Given the description of an element on the screen output the (x, y) to click on. 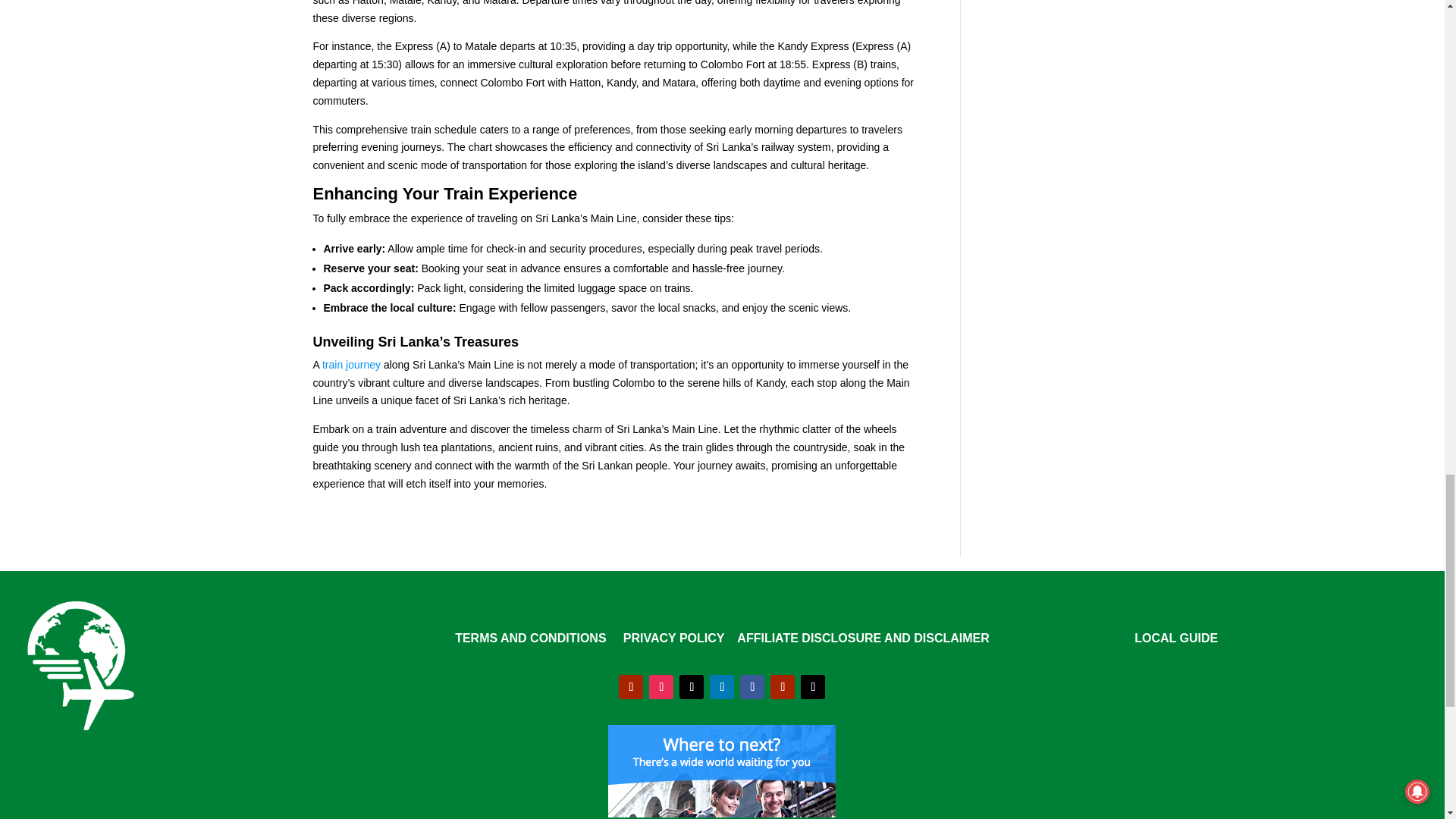
Follow on Quora (782, 686)
Follow on Facebook (751, 686)
Follow on LinkedIn (721, 686)
Follow on Youtube (630, 686)
Follow on X (812, 686)
train journey (350, 364)
Follow on Instagram (660, 686)
Follow on TikTok (691, 686)
AFFILIATE DISCLOSURE AND DISCLAIMER (862, 637)
TERMS AND CONDITIONS (529, 637)
